Given the description of an element on the screen output the (x, y) to click on. 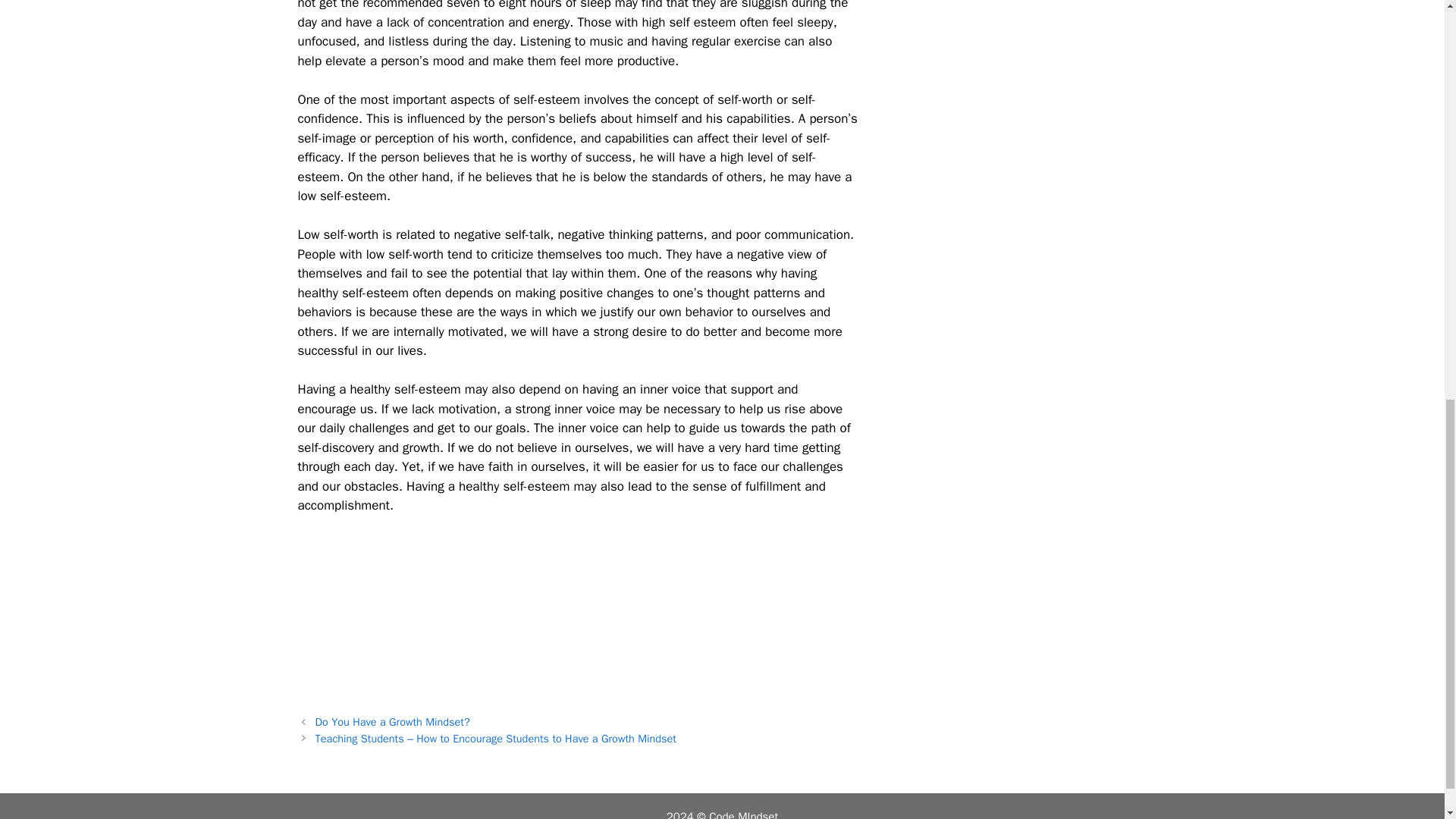
Do You Have a Growth Mindset? (392, 721)
